Given the description of an element on the screen output the (x, y) to click on. 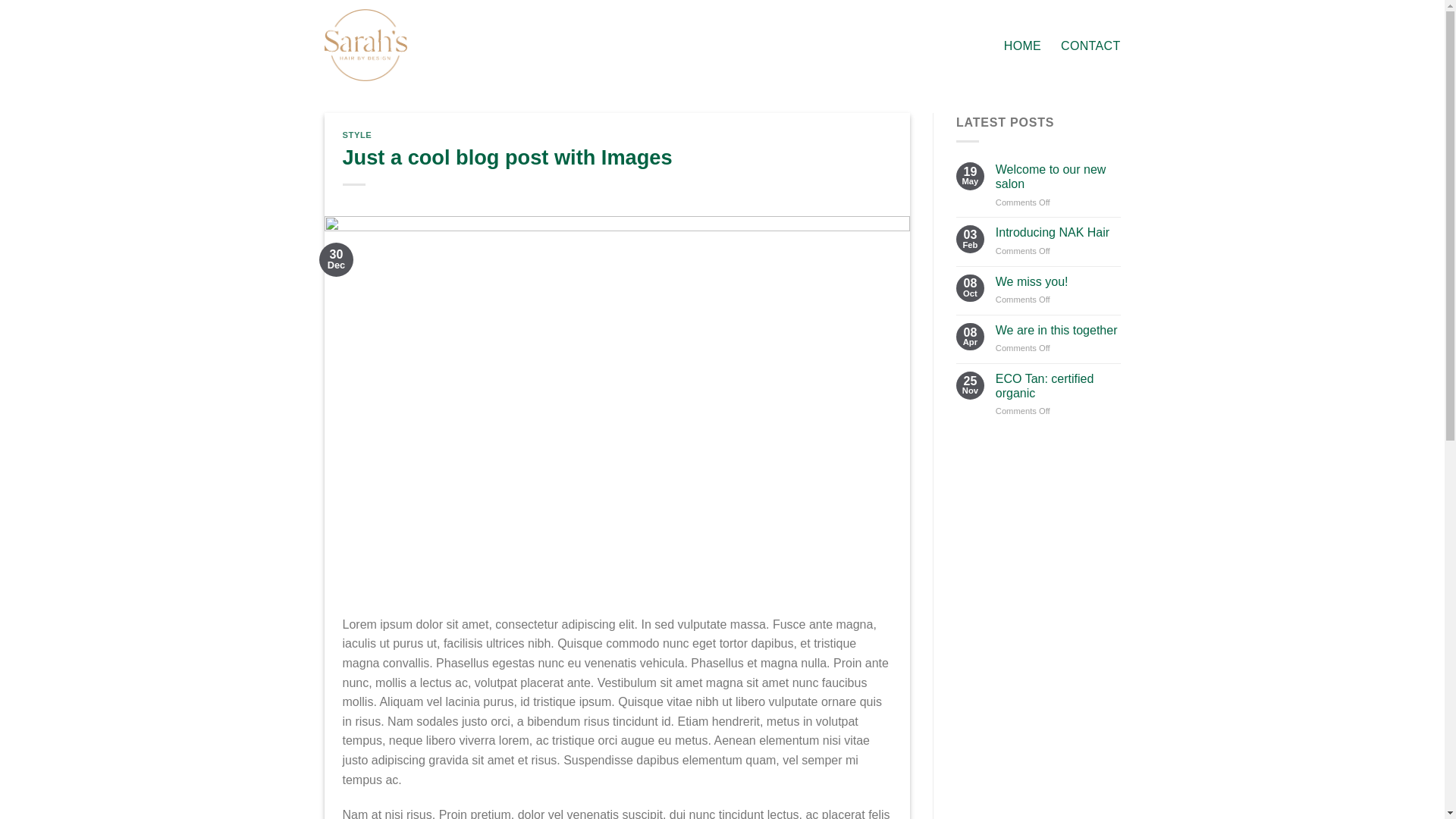
STYLE Element type: text (357, 134)
CONTACT Element type: text (1090, 45)
ECO Tan: certified organic Element type: text (1057, 385)
We miss you! Element type: text (1057, 281)
We are in this together Element type: text (1057, 330)
Welcome to our new salon Element type: text (1057, 176)
HOME Element type: text (1022, 45)
Introducing NAK Hair Element type: text (1057, 232)
